Given the description of an element on the screen output the (x, y) to click on. 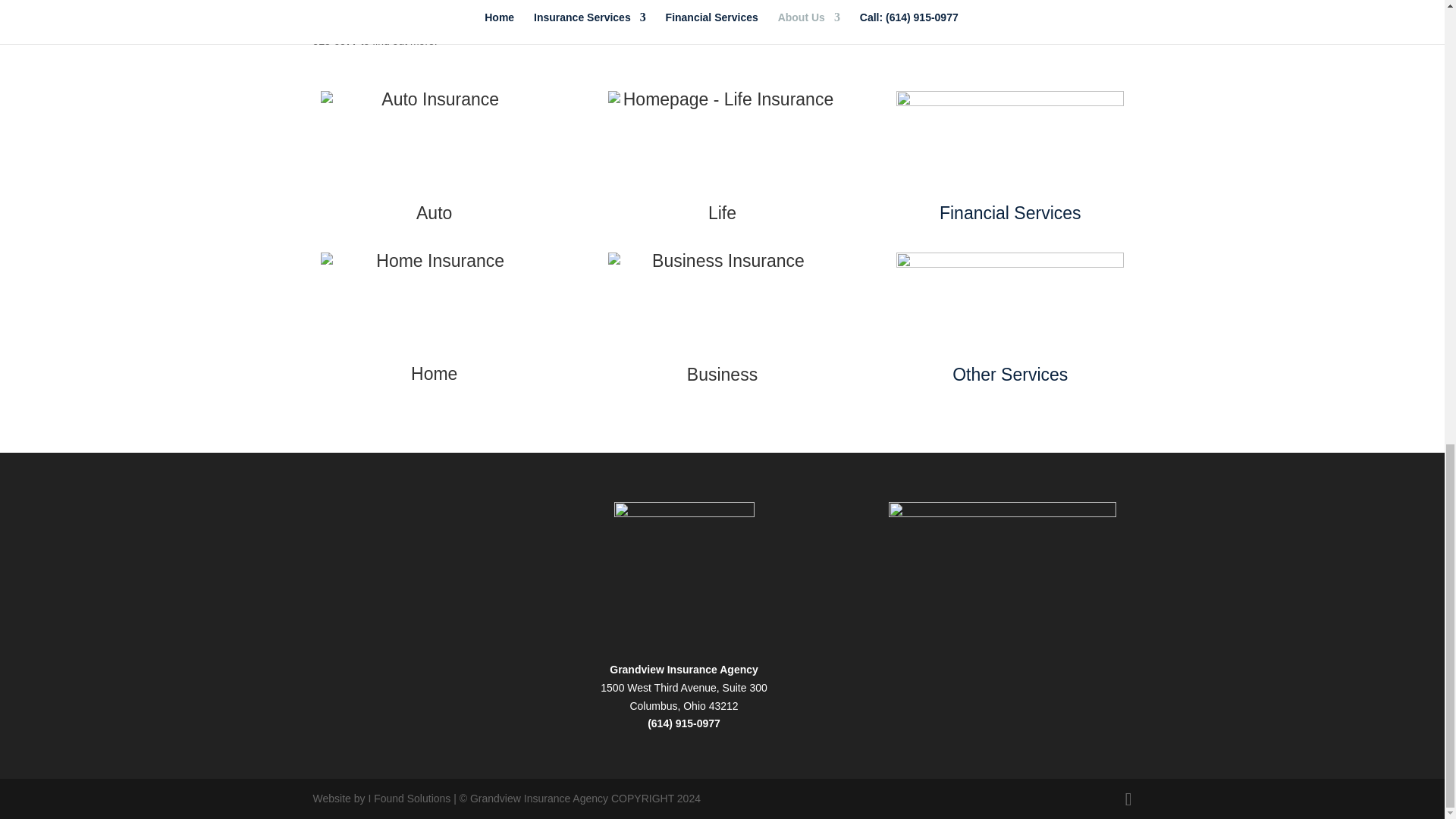
Auto (433, 212)
Auto Insurance (433, 212)
Financial Services (1010, 212)
Other Services (1009, 374)
Life (721, 212)
Business (722, 374)
Home Insurance (433, 373)
Life Insurance (721, 212)
Home (433, 373)
